Given the description of an element on the screen output the (x, y) to click on. 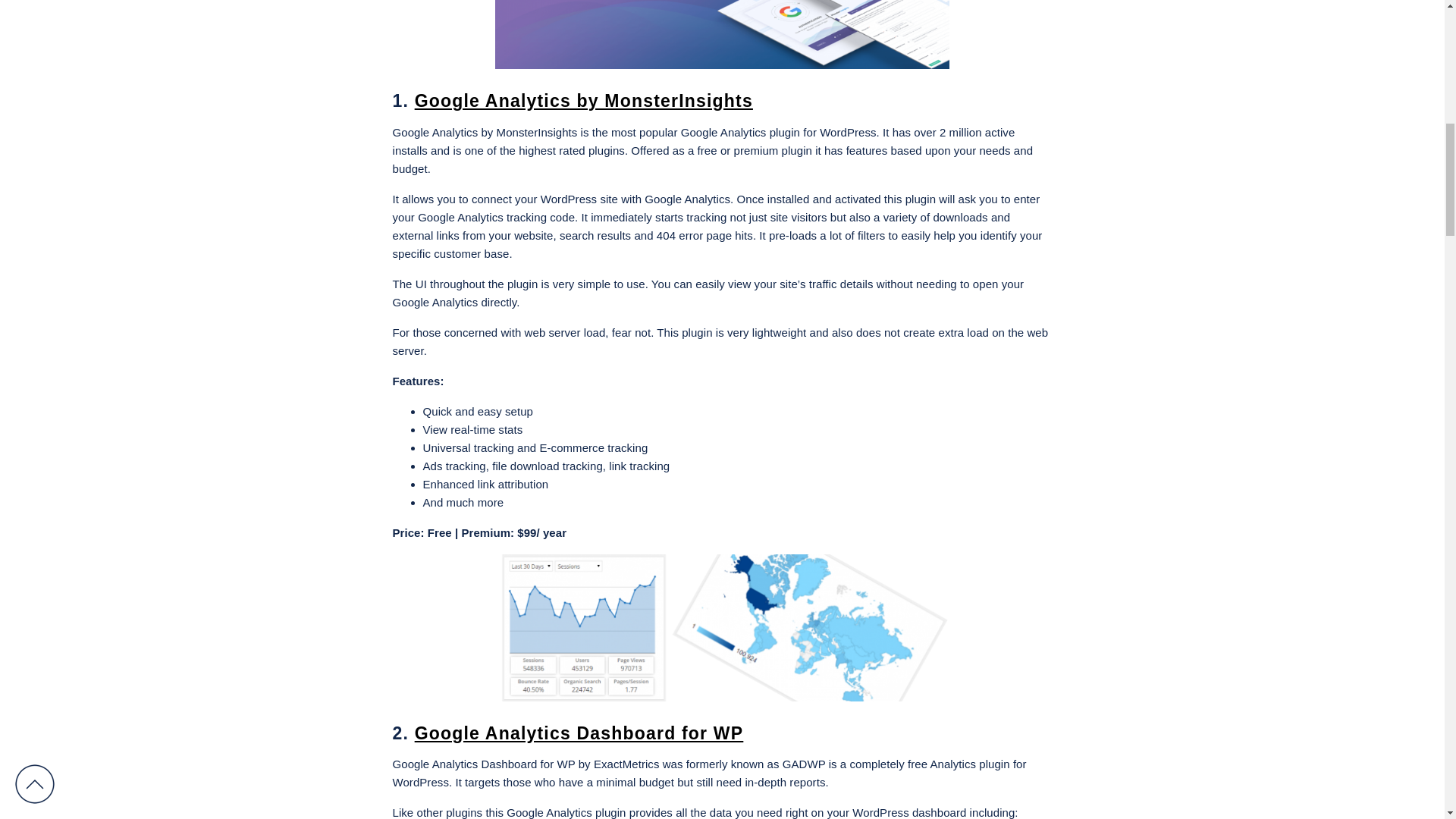
Google Analytics by MonsterInsights (583, 100)
Google Analytics Dashboard for WP (579, 732)
